Given the description of an element on the screen output the (x, y) to click on. 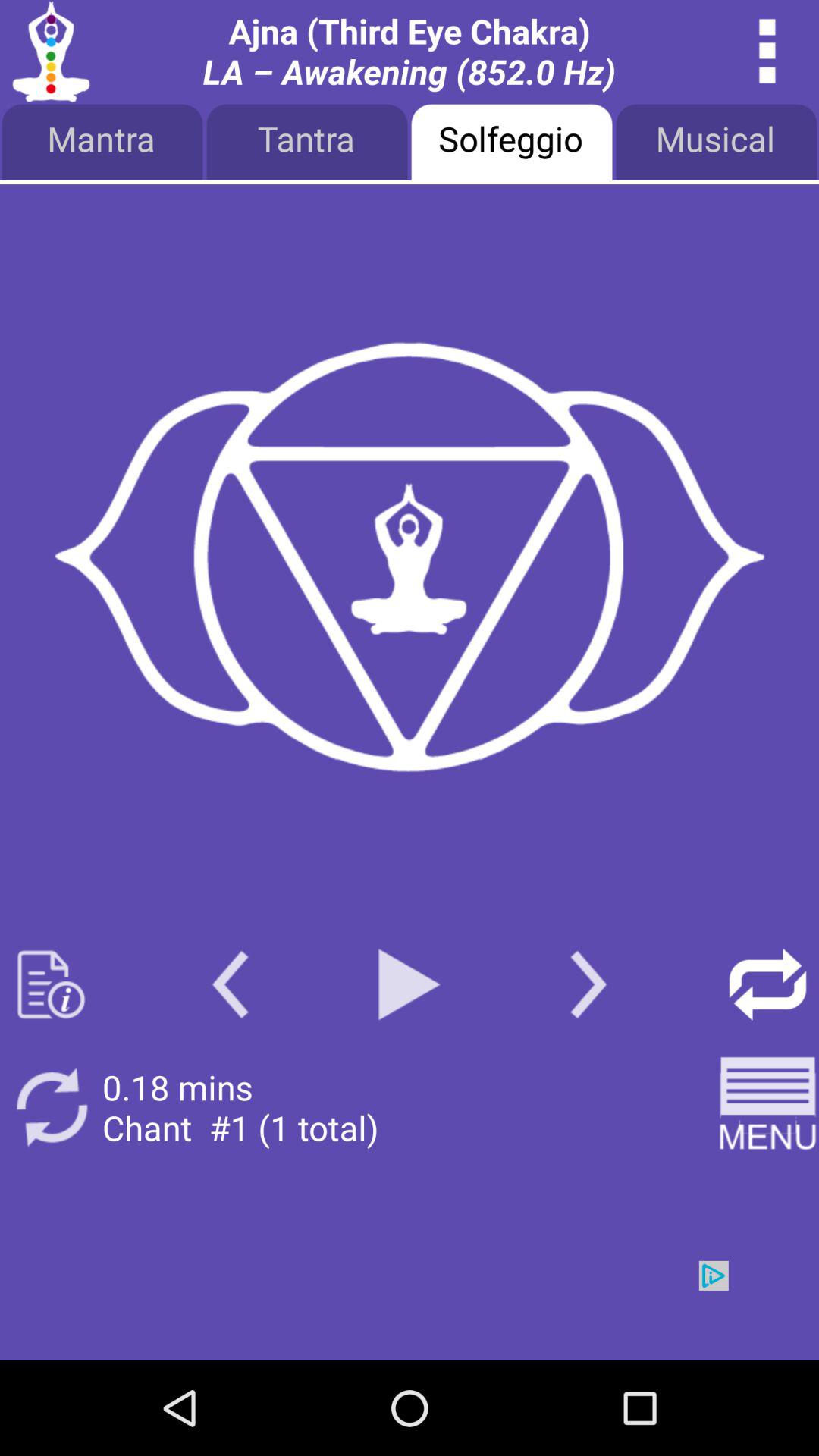
open info tab (51, 984)
